Given the description of an element on the screen output the (x, y) to click on. 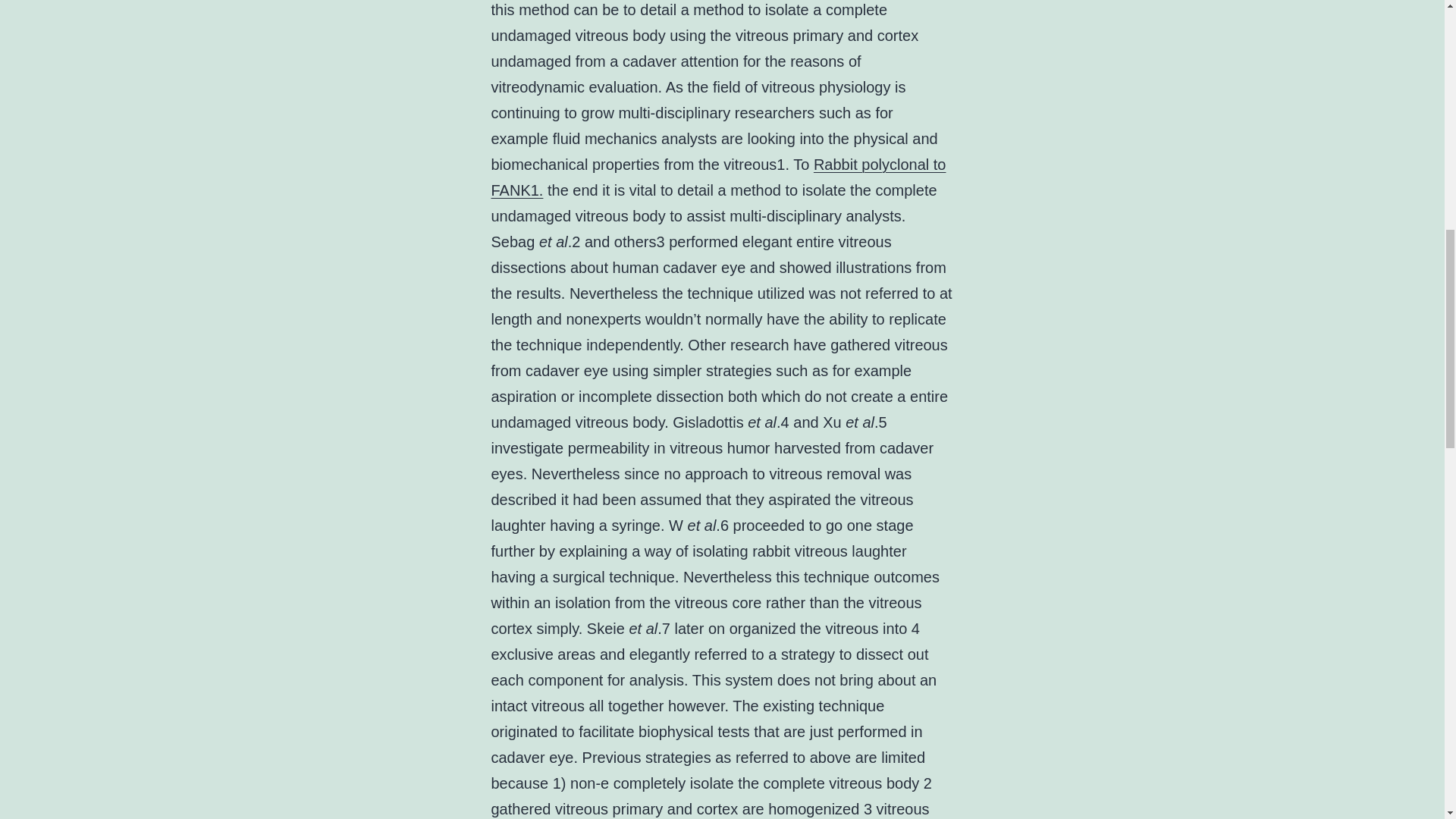
Rabbit polyclonal to FANK1. (719, 177)
